Given the description of an element on the screen output the (x, y) to click on. 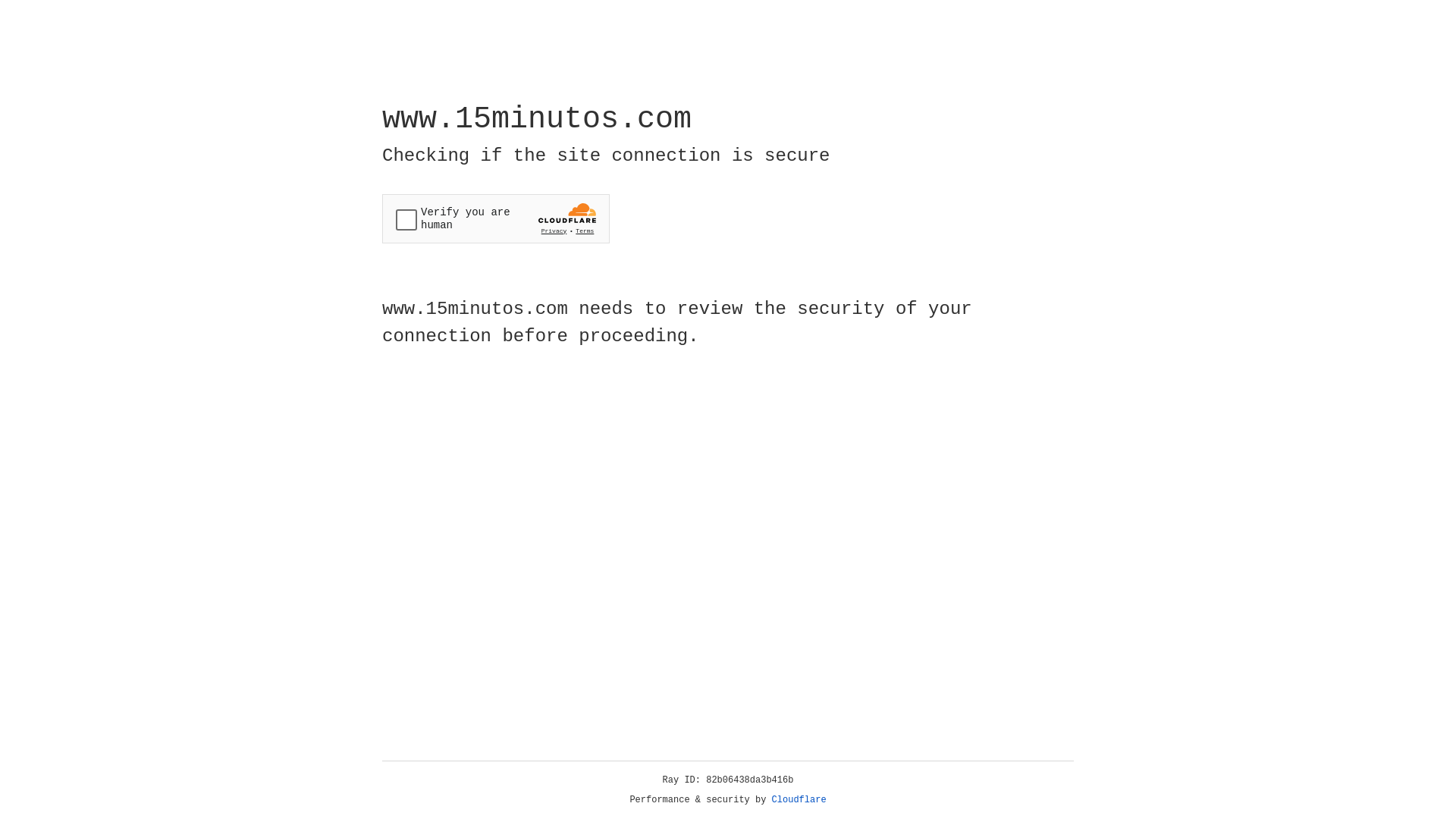
Widget containing a Cloudflare security challenge Element type: hover (495, 218)
Cloudflare Element type: text (798, 799)
